Given the description of an element on the screen output the (x, y) to click on. 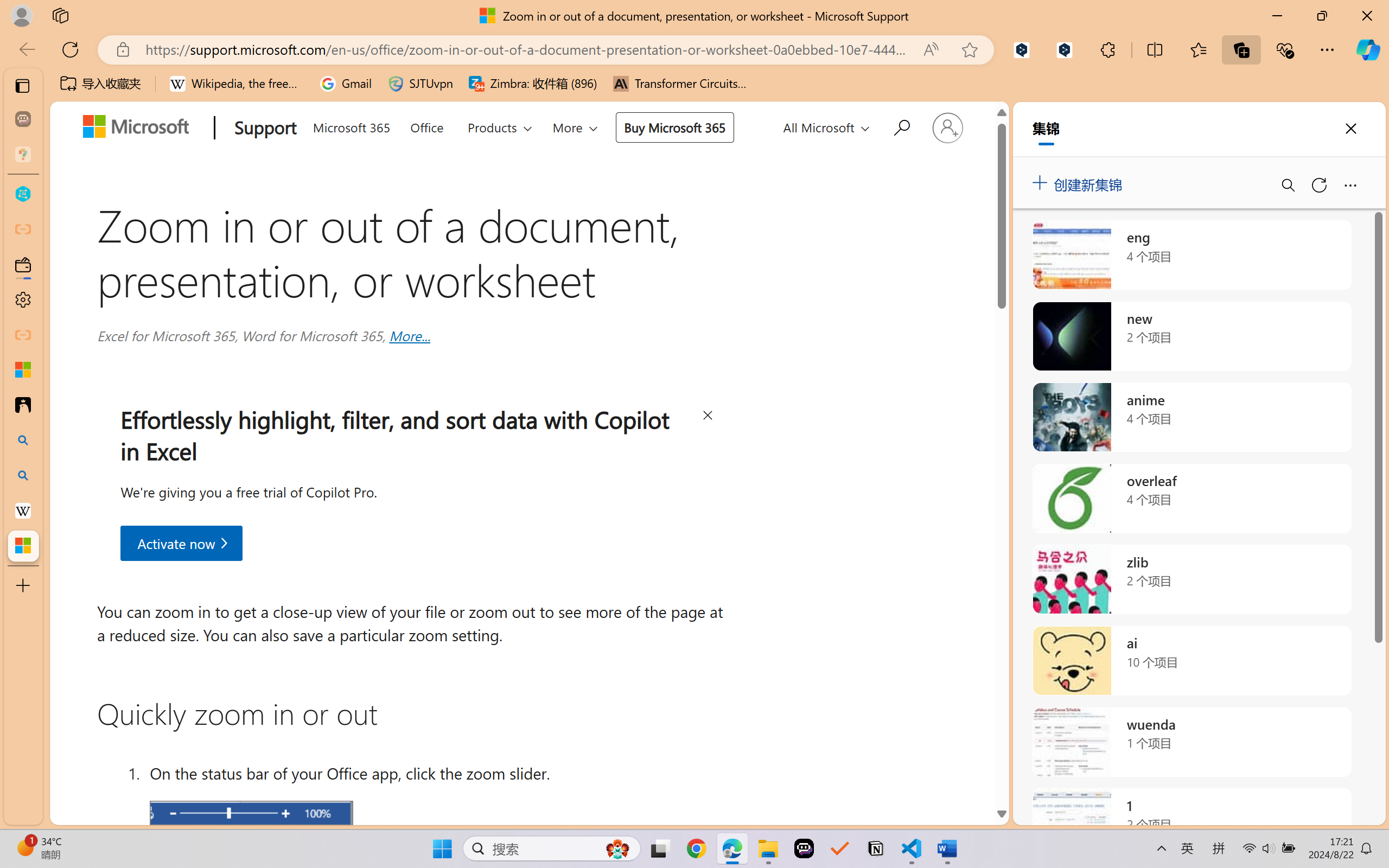
Office (426, 125)
